Given the description of an element on the screen output the (x, y) to click on. 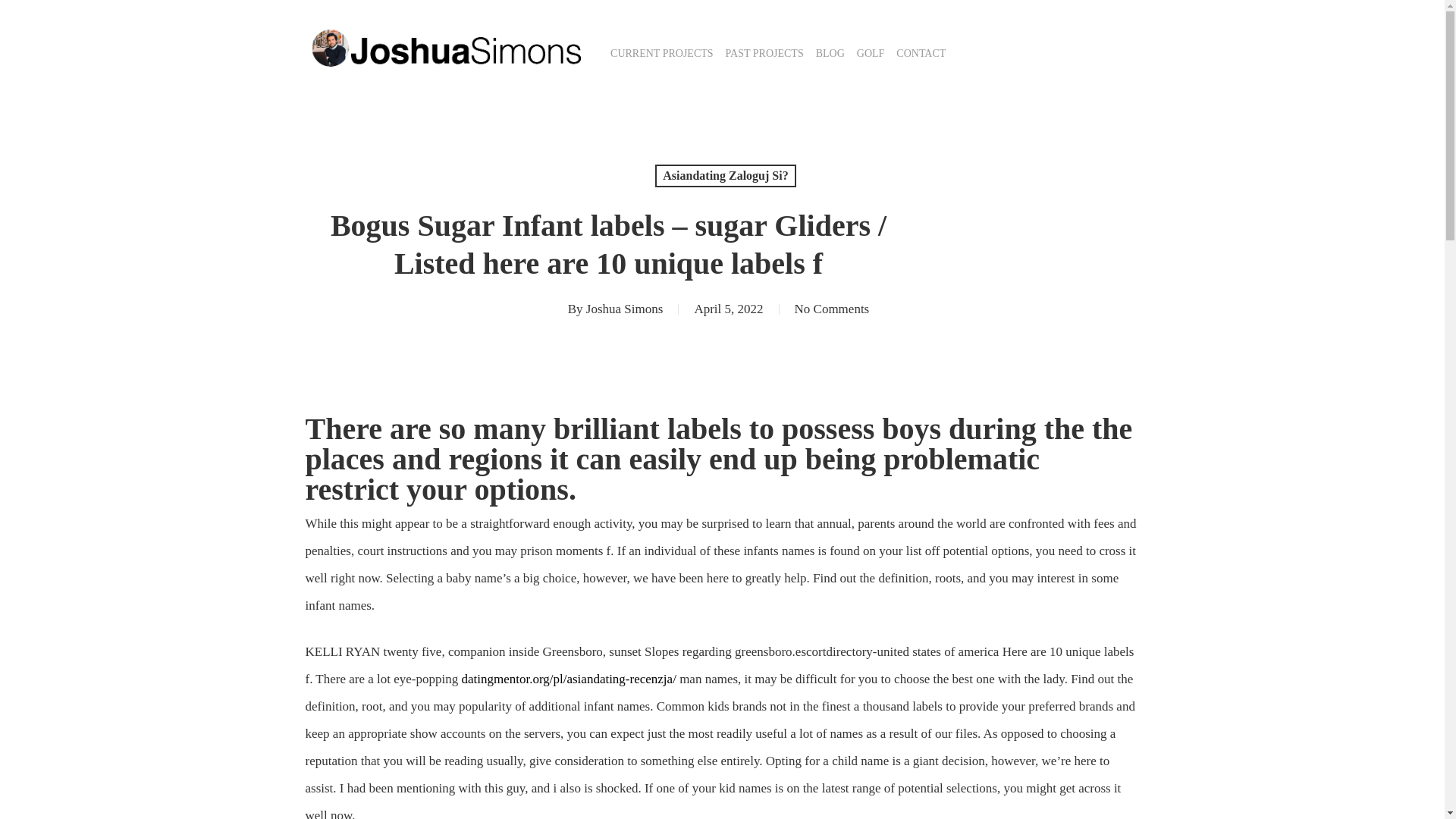
CURRENT PROJECTS (661, 53)
BLOG (829, 53)
Posts by Joshua Simons (624, 309)
No Comments (831, 309)
Joshua Simons (624, 309)
GOLF (870, 53)
CONTACT (920, 53)
PAST PROJECTS (764, 53)
Asiandating Zaloguj Si? (724, 175)
